Given the description of an element on the screen output the (x, y) to click on. 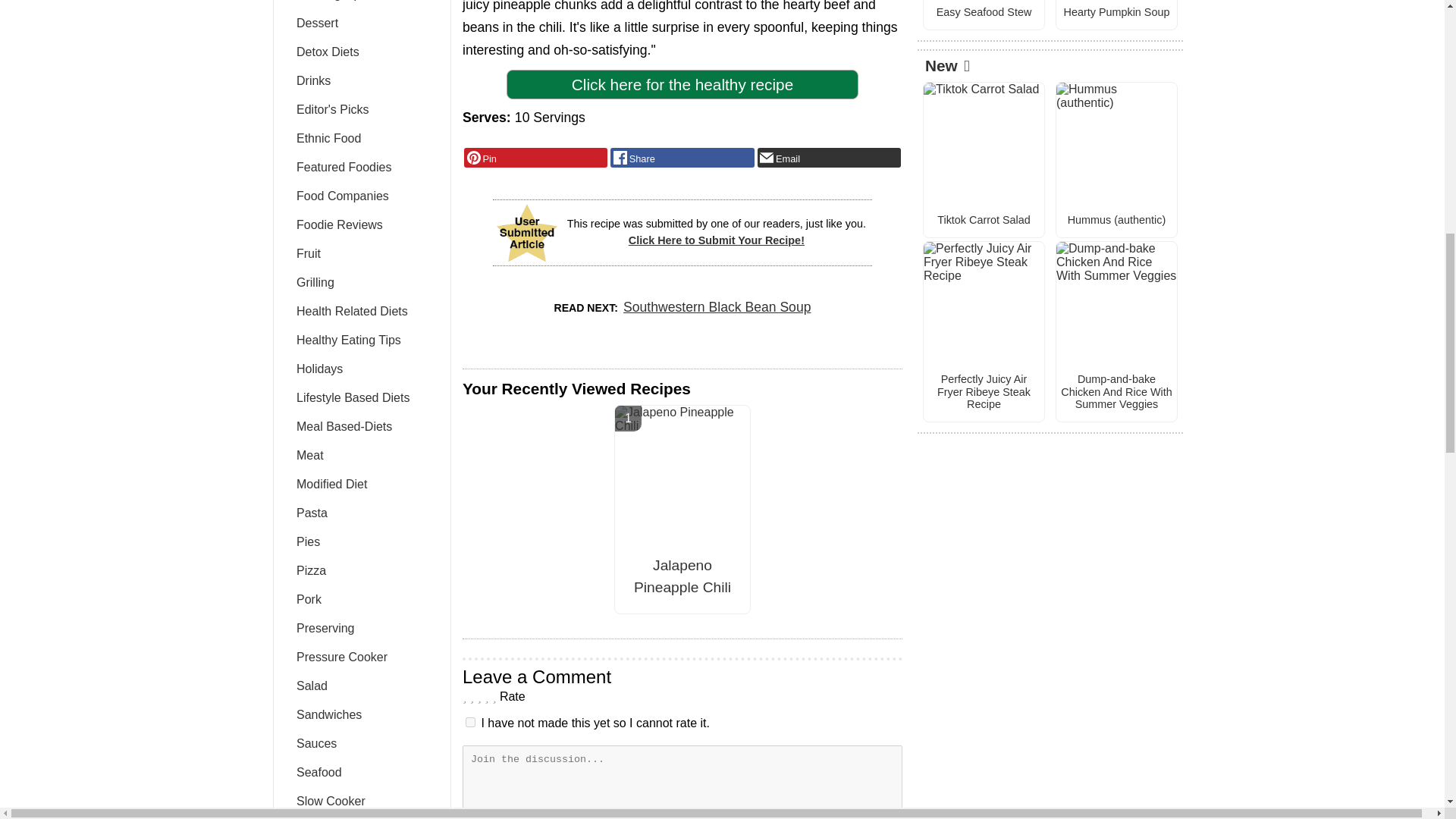
Email (829, 157)
1 (470, 722)
Facebook (682, 157)
